Given the description of an element on the screen output the (x, y) to click on. 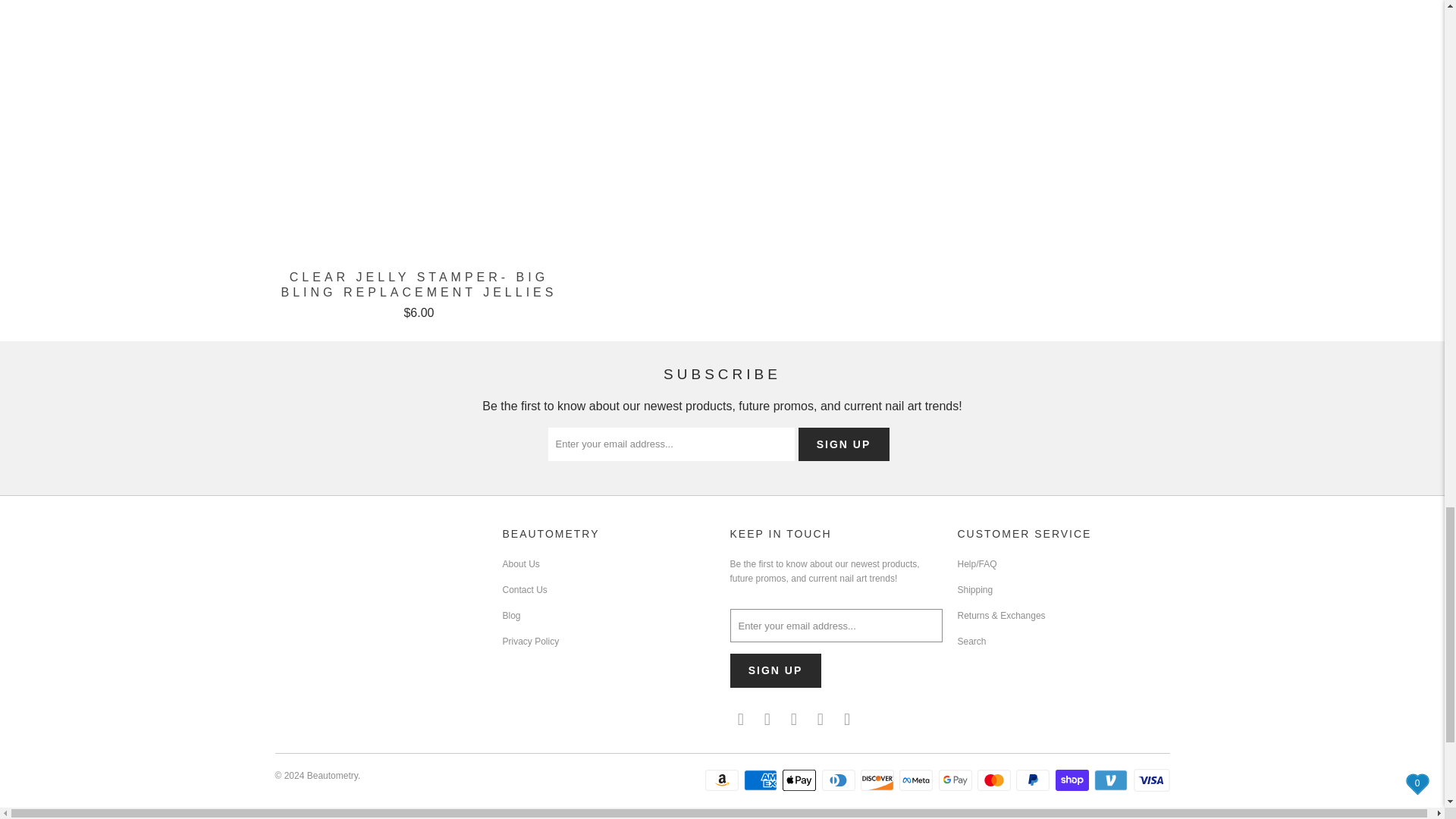
Sign Up (842, 444)
Beautometry on Twitter (740, 719)
Google Pay (957, 780)
Meta Pay (917, 780)
Sign Up (775, 670)
Apple Pay (800, 780)
Discover (878, 780)
Beautometry on YouTube (794, 719)
PayPal (1034, 780)
Venmo (1112, 780)
Shop Pay (1073, 780)
Diners Club (840, 780)
American Express (762, 780)
Mastercard (994, 780)
Amazon (722, 780)
